Given the description of an element on the screen output the (x, y) to click on. 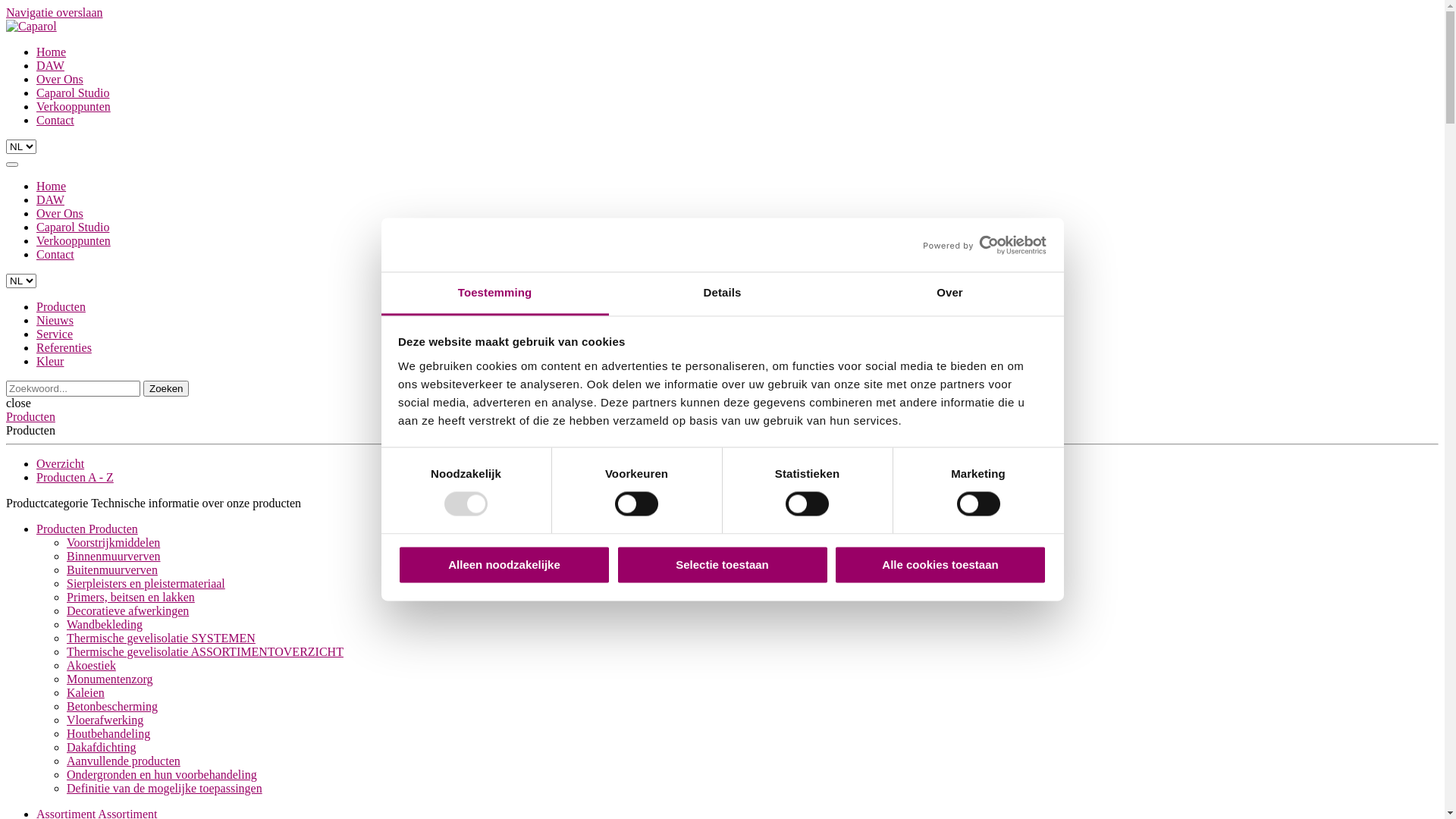
Producten Element type: text (60, 306)
Houtbehandeling Element type: text (108, 733)
Home Element type: text (50, 185)
Verkooppunten Element type: text (73, 106)
Binnenmuurverven Element type: text (113, 555)
DAW Element type: text (50, 65)
Kleur Element type: text (49, 360)
Over Ons Element type: text (59, 213)
Betonbescherming Element type: text (111, 705)
Overzicht Element type: text (60, 463)
Referenties Element type: text (63, 347)
Voorstrijkmiddelen Element type: text (113, 542)
Zoeken Element type: text (165, 388)
Details Element type: text (721, 293)
Producten Element type: text (113, 528)
Contact Element type: text (55, 253)
Over Element type: text (949, 293)
Thermische gevelisolatie SYSTEMEN Element type: text (160, 637)
Aanvullende producten Element type: text (123, 760)
Buitenmuurverven Element type: text (111, 569)
Service Element type: text (54, 333)
Caparol Studio Element type: text (72, 92)
Decoratieve afwerkingen Element type: text (127, 610)
Wandbekleding Element type: text (104, 624)
Monumentenzorg Element type: text (109, 678)
Selectie toestaan Element type: text (721, 564)
Thermische gevelisolatie ASSORTIMENTOVERZICHT Element type: text (204, 651)
Home Element type: text (50, 51)
Primers, beitsen en lakken Element type: text (130, 596)
Alleen noodzakelijke Element type: text (504, 564)
Sierpleisters en pleistermateriaal Element type: text (145, 583)
DAW Element type: text (50, 199)
Akoestiek Element type: text (91, 664)
Producten Element type: text (62, 528)
Toestemming Element type: text (494, 293)
Definitie van de mogelijke toepassingen Element type: text (164, 787)
Ondergronden en hun voorbehandeling Element type: text (161, 774)
Caparol Studio Element type: text (72, 226)
Alle cookies toestaan Element type: text (940, 564)
Dakafdichting Element type: text (101, 746)
Nieuws Element type: text (54, 319)
Vloerafwerking Element type: text (104, 719)
Navigatie overslaan Element type: text (54, 12)
Caparol Element type: hover (31, 26)
Producten A - Z Element type: text (74, 476)
Producten Element type: text (30, 416)
Kaleien Element type: text (85, 692)
Over Ons Element type: text (59, 78)
Contact Element type: text (55, 119)
Verkooppunten Element type: text (73, 240)
